Given the description of an element on the screen output the (x, y) to click on. 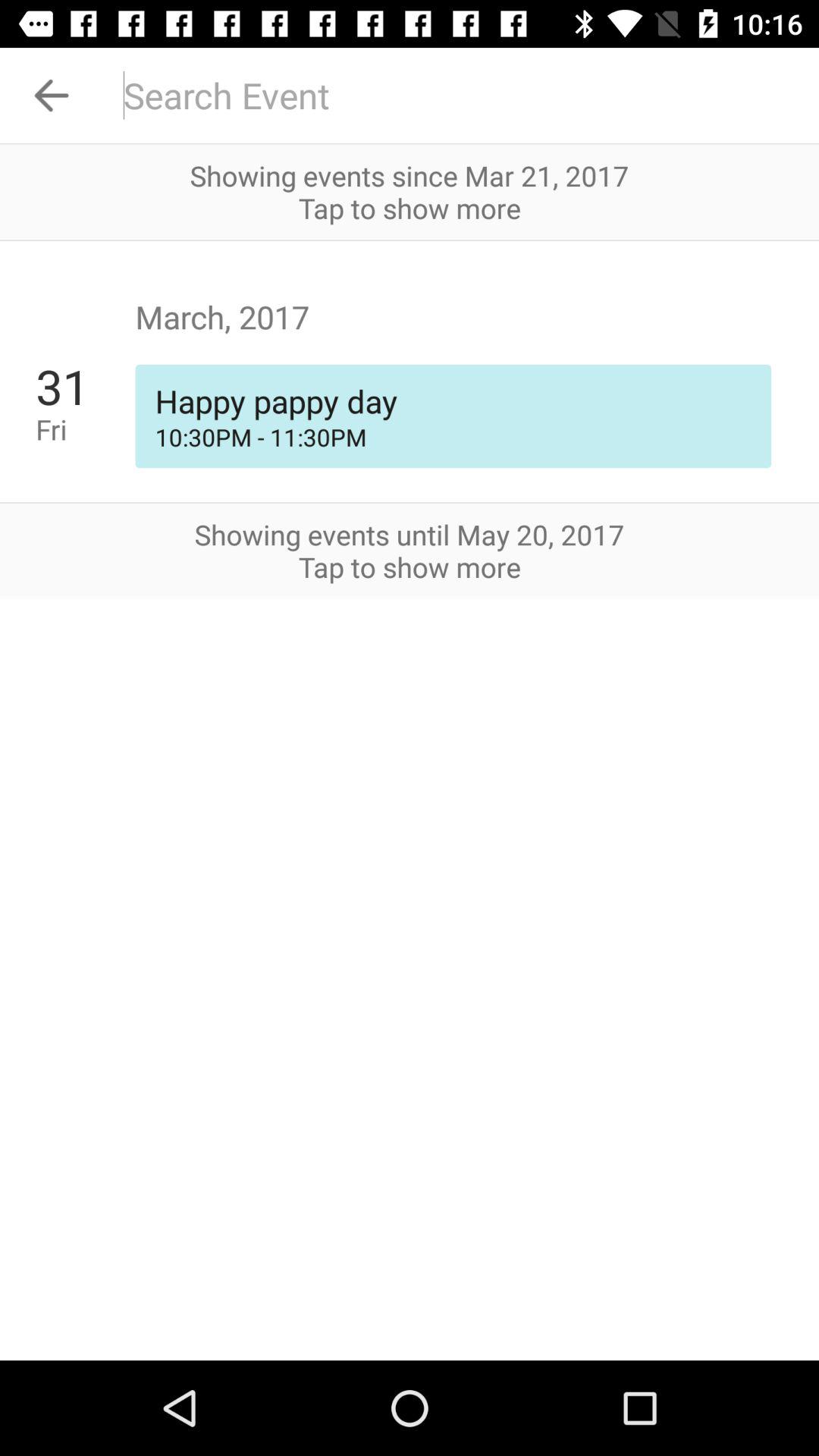
press the icon to the right of the 31 item (453, 436)
